Given the description of an element on the screen output the (x, y) to click on. 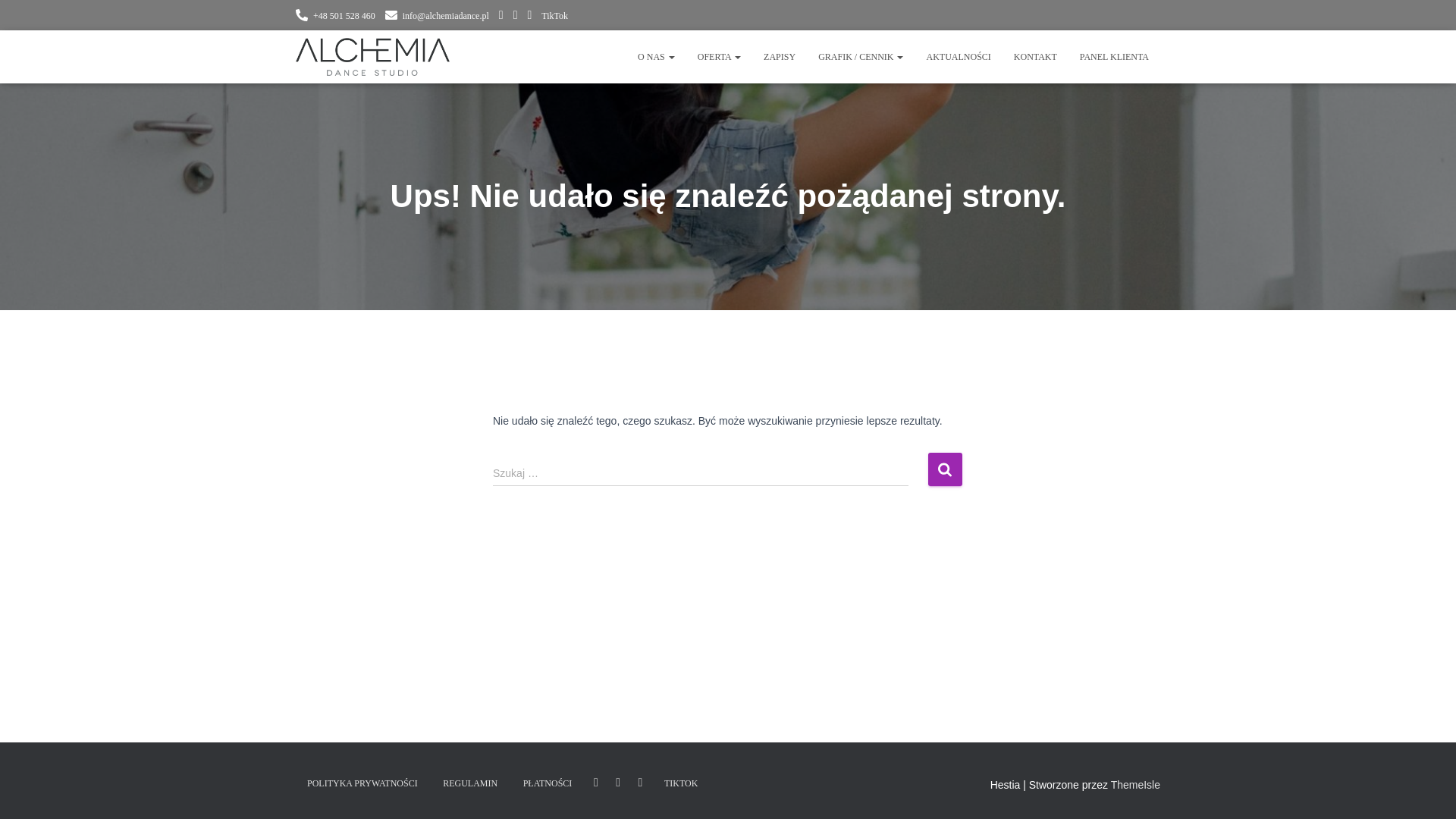
OFERTA (718, 56)
Szukaj (945, 468)
REGULAMIN (469, 783)
Szukaj (945, 468)
O NAS (655, 56)
ZAPISY (779, 56)
OFERTA (718, 56)
ThemeIsle (1135, 784)
Szukaj (945, 468)
PANEL KLIENTA (1114, 56)
